Given the description of an element on the screen output the (x, y) to click on. 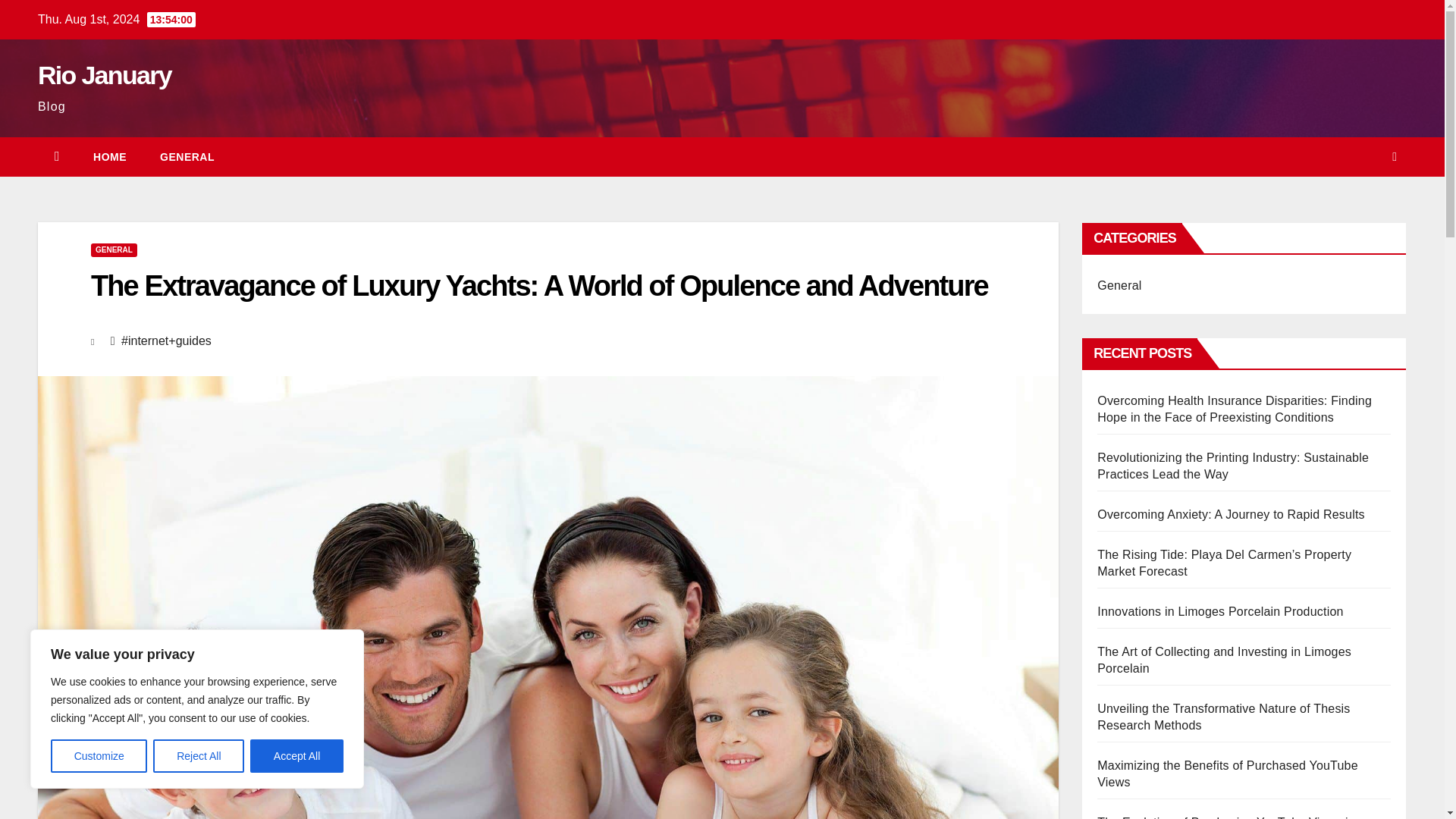
Customize (98, 756)
GENERAL (186, 156)
Accept All (296, 756)
Home (109, 156)
HOME (109, 156)
Rio January (104, 74)
GENERAL (113, 250)
General (186, 156)
Reject All (198, 756)
